Given the description of an element on the screen output the (x, y) to click on. 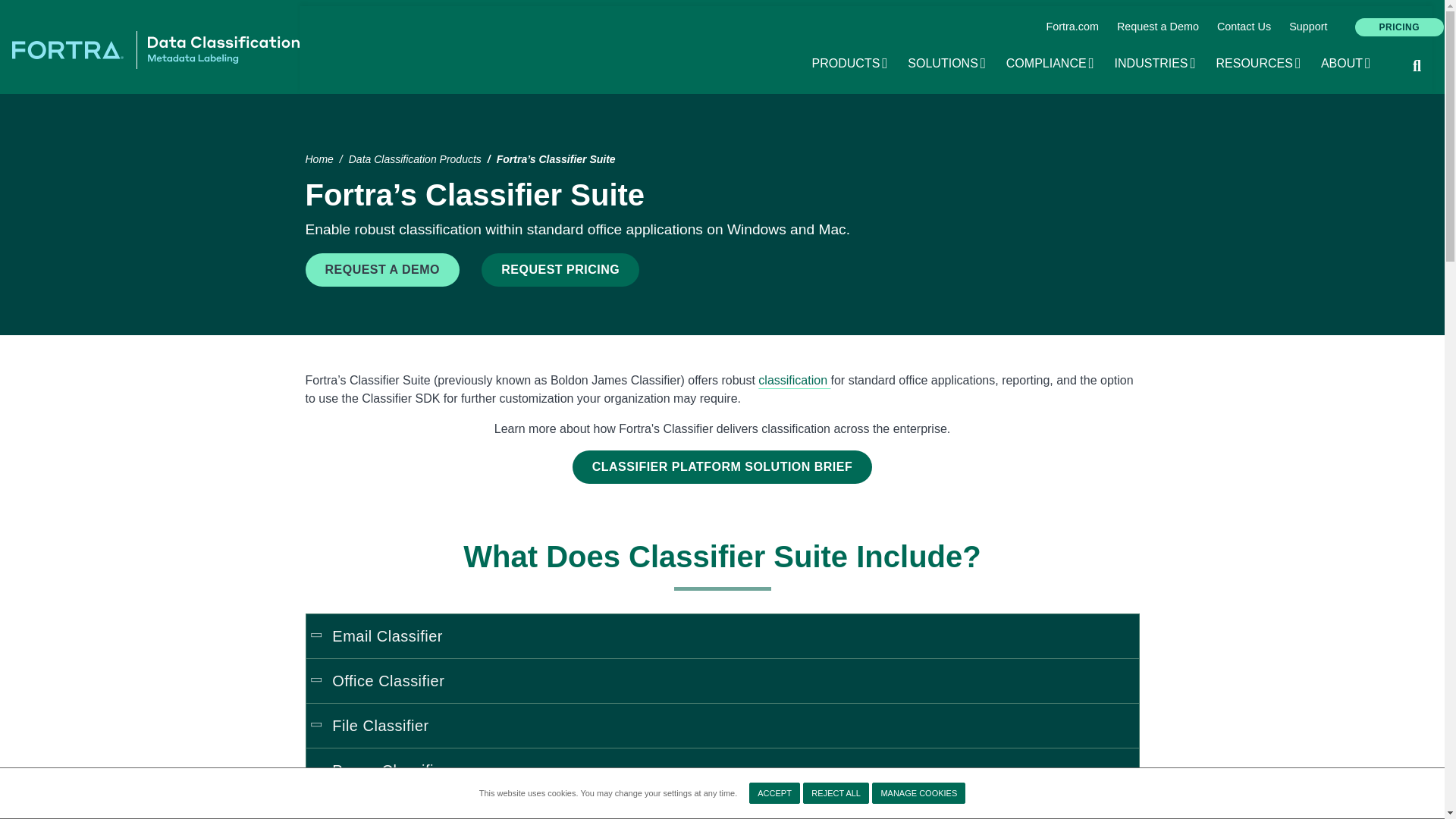
Request a Demo (1158, 27)
ACCEPT (774, 793)
Skip to main content (721, 1)
Home (155, 48)
Fortra.com (1072, 27)
Contact Us (1051, 63)
Data Classification (1243, 27)
PRICING (850, 63)
MANAGE COOKIES (947, 63)
Support (793, 379)
REJECT ALL (1399, 27)
